Given the description of an element on the screen output the (x, y) to click on. 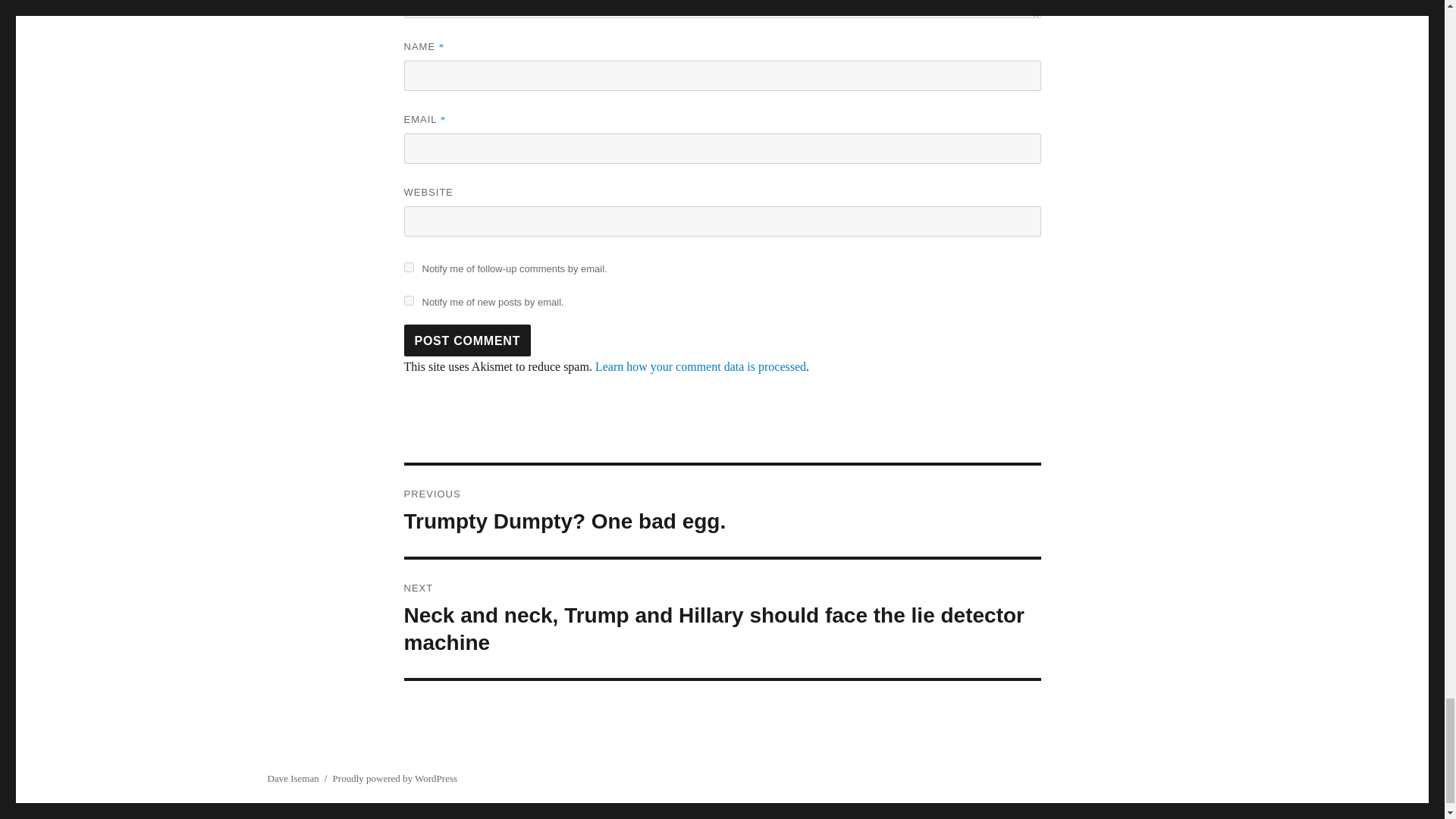
Dave Iseman (292, 778)
subscribe (722, 511)
Post Comment (408, 266)
Proudly powered by WordPress (467, 340)
subscribe (395, 778)
Post Comment (408, 300)
Learn how your comment data is processed (467, 340)
